Given the description of an element on the screen output the (x, y) to click on. 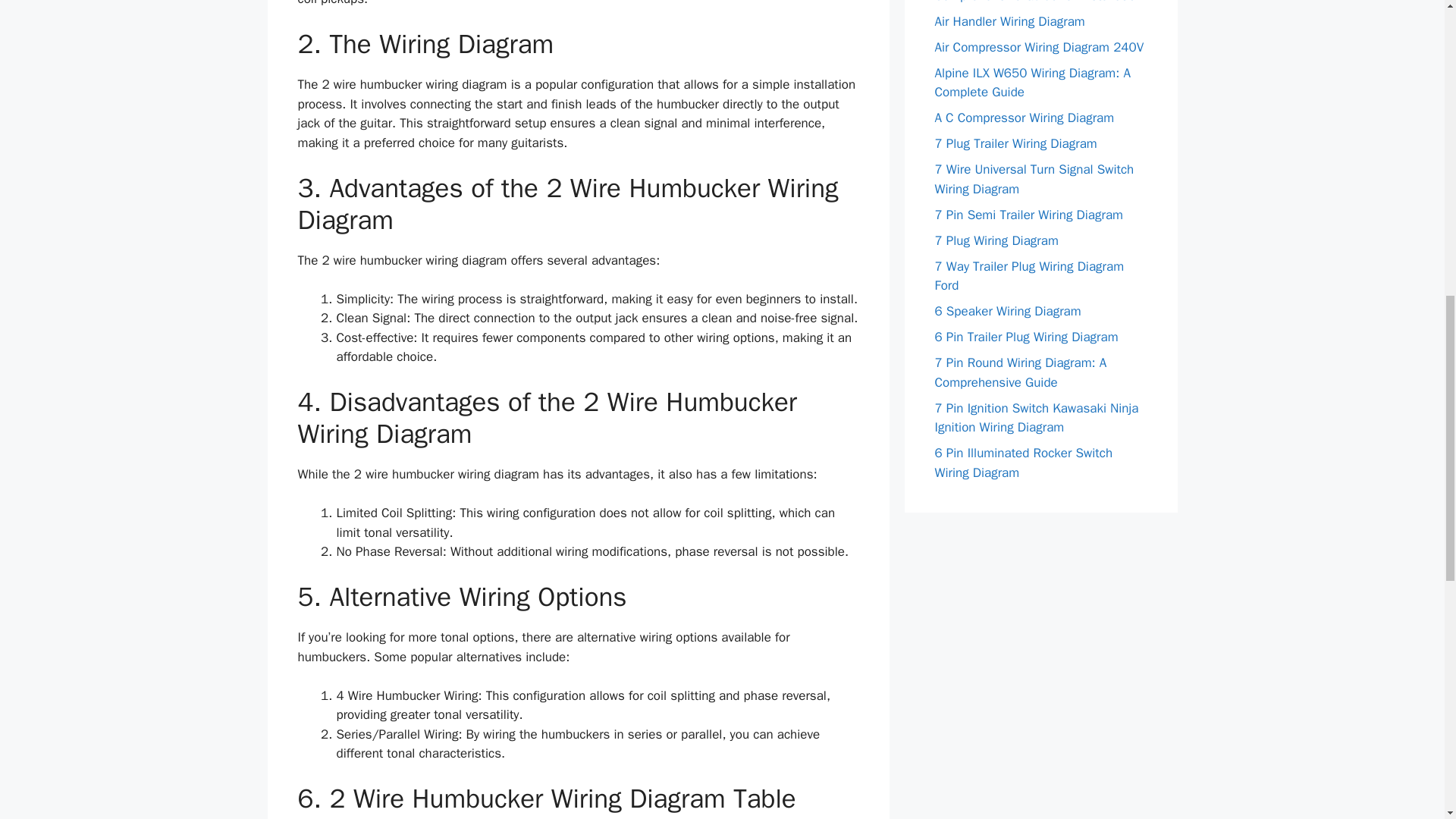
7 Plug Trailer Wiring Diagram (1015, 143)
Air Handler Wiring Diagram (1009, 21)
Alpine ILX W650 Wiring Diagram: A Complete Guide (1031, 82)
Air Compressor Wiring Diagram 240V (1038, 47)
A C Compressor Wiring Diagram (1023, 117)
